Given the description of an element on the screen output the (x, y) to click on. 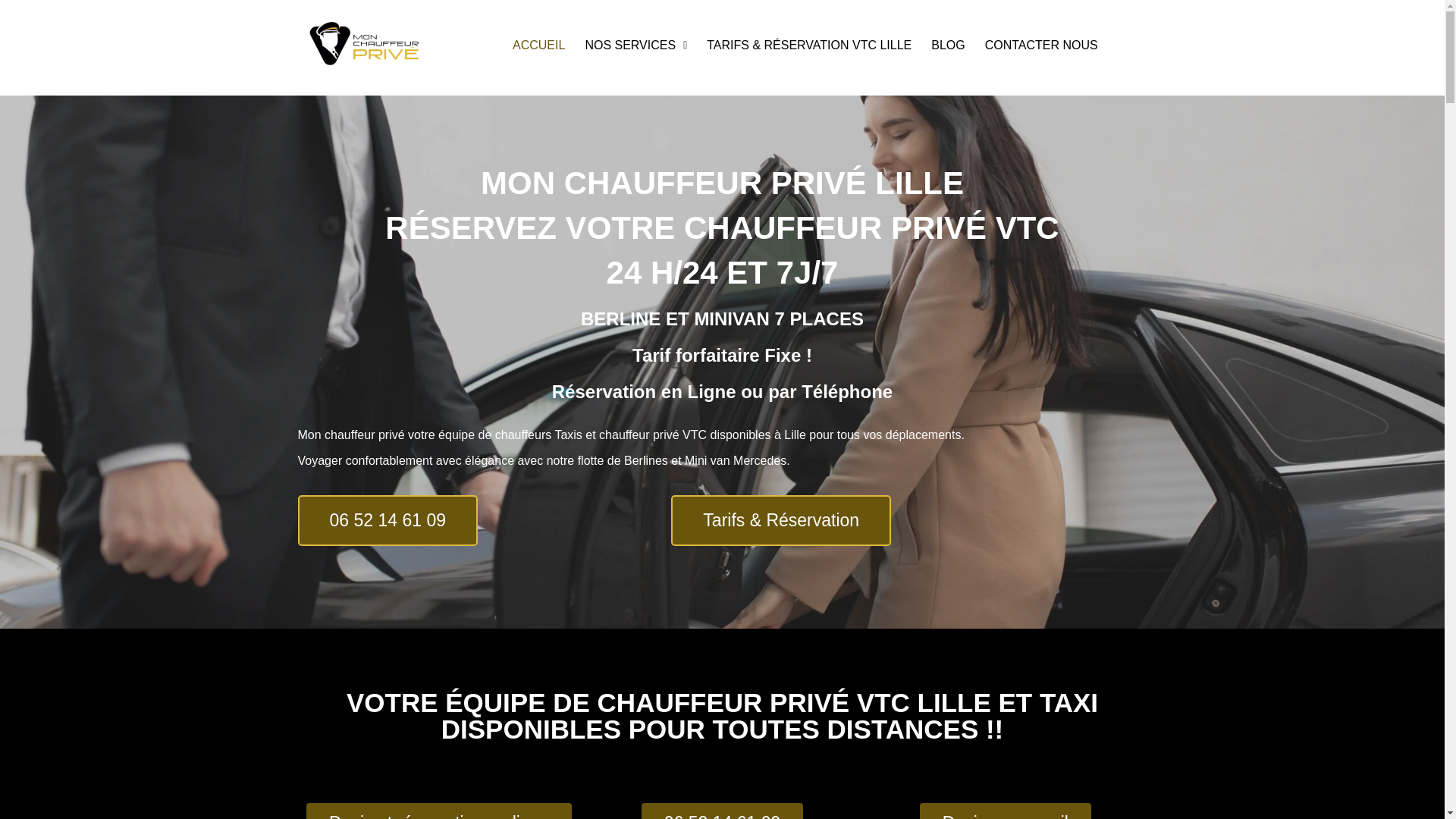
CONTACTER NOUS (1041, 45)
NOS SERVICES (636, 45)
BLOG (947, 45)
ACCUEIL (538, 45)
Devis par e-mail (1005, 811)
06 52 14 61 09 (722, 811)
06 52 14 61 09 (387, 520)
